Given the description of an element on the screen output the (x, y) to click on. 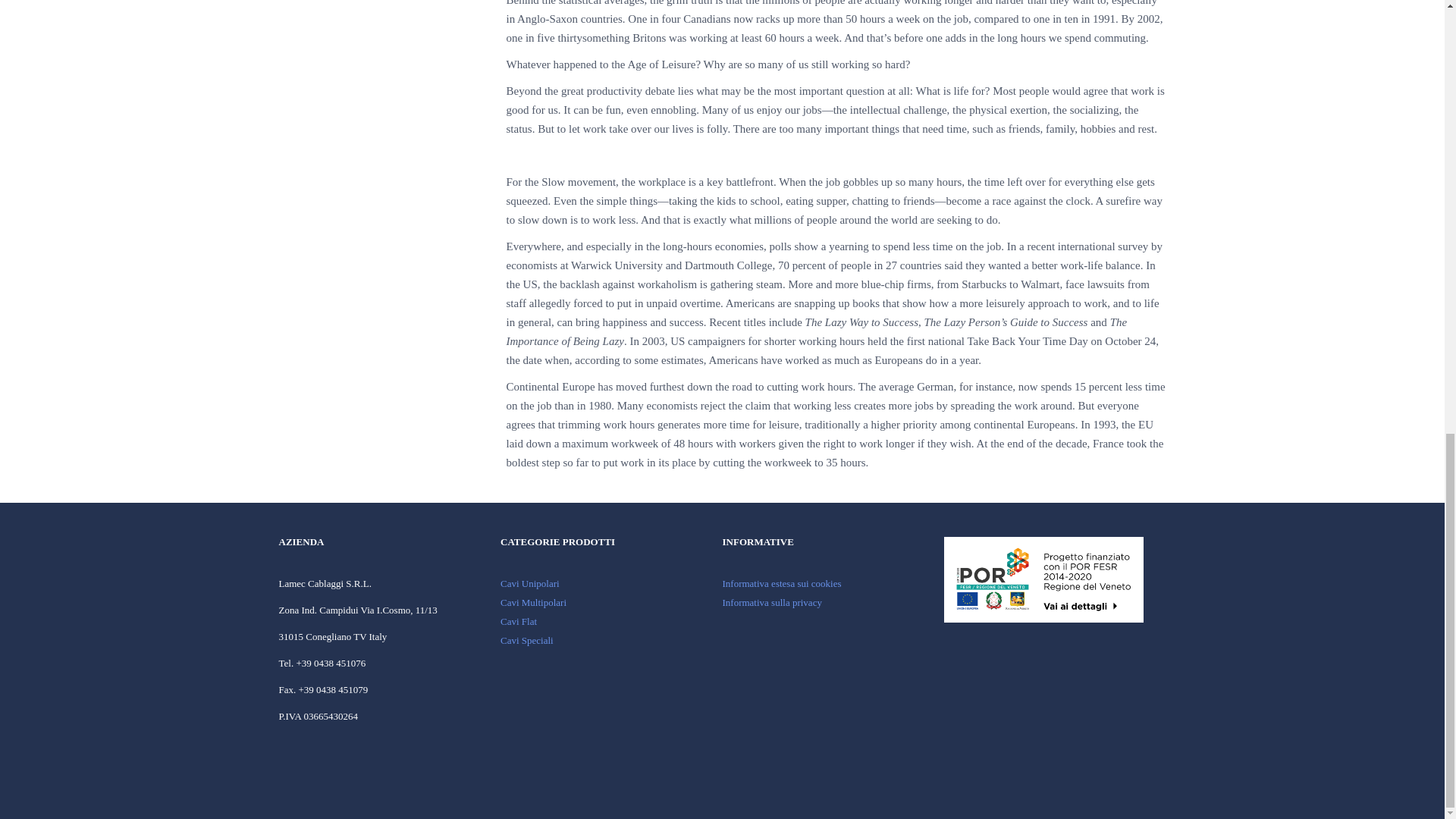
Cavi Flat (518, 621)
Informativa estesa sui cookies (781, 583)
Cavi Unipolari (529, 583)
Cavi Speciali (526, 640)
Cavi Multipolari (533, 602)
Informativa sulla privacy (771, 602)
